Given the description of an element on the screen output the (x, y) to click on. 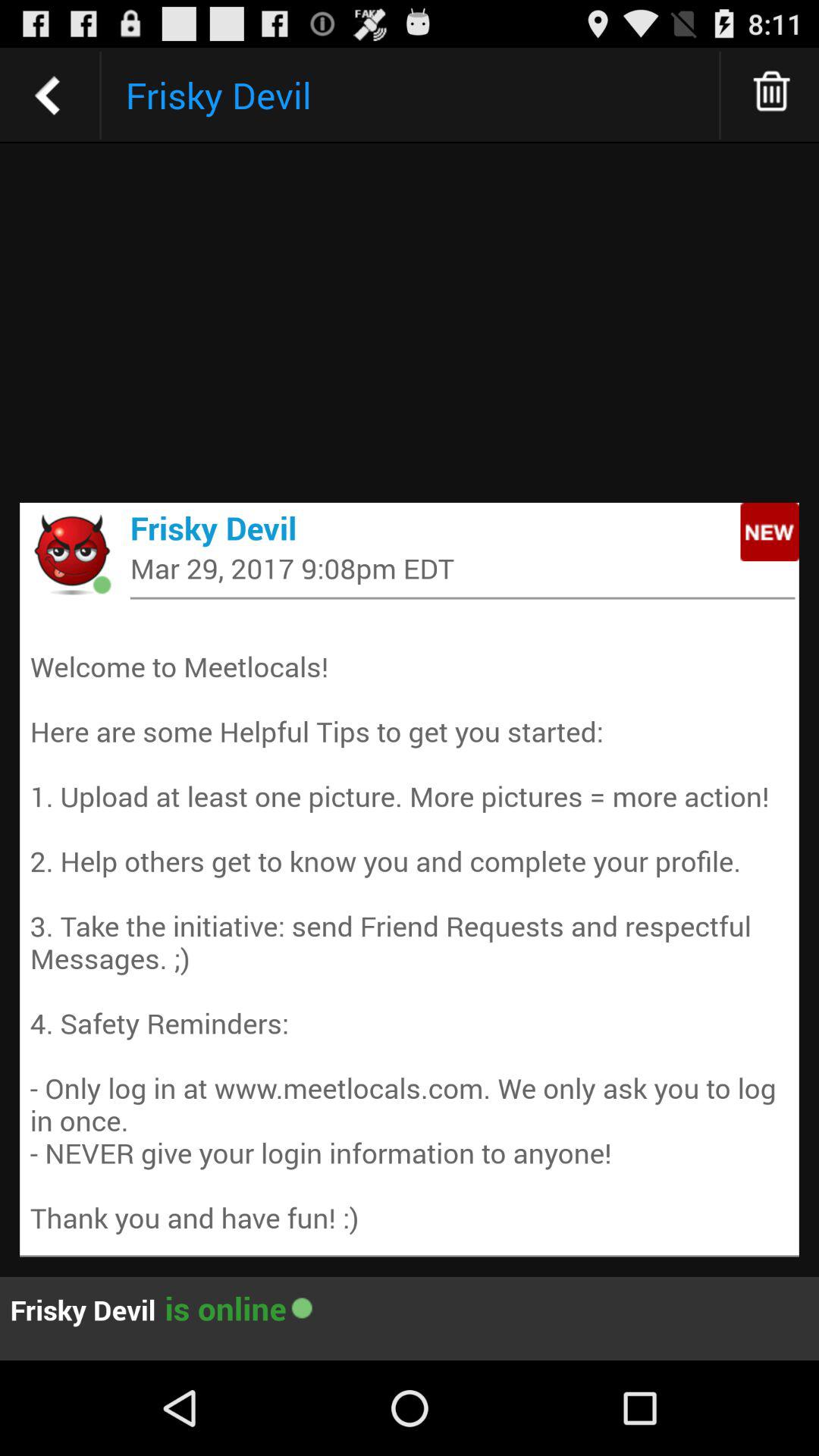
turn on the app above the is online item (409, 925)
